Given the description of an element on the screen output the (x, y) to click on. 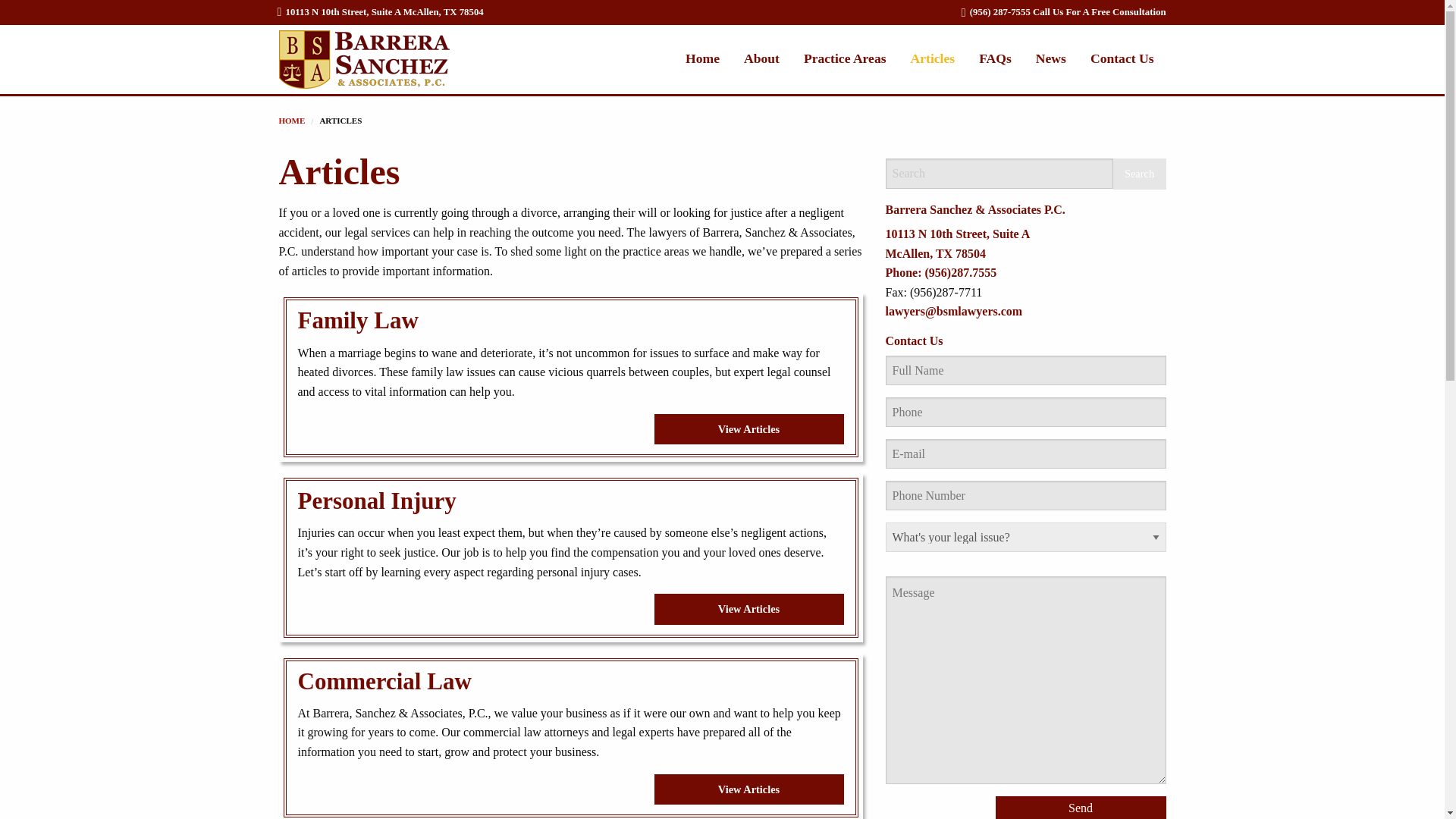
About (762, 58)
Home (292, 120)
10113 N 10th Street, Suite A McAllen, TX 78504 (381, 11)
Search (1139, 173)
Send (1080, 807)
Practice Areas (845, 58)
